Given the description of an element on the screen output the (x, y) to click on. 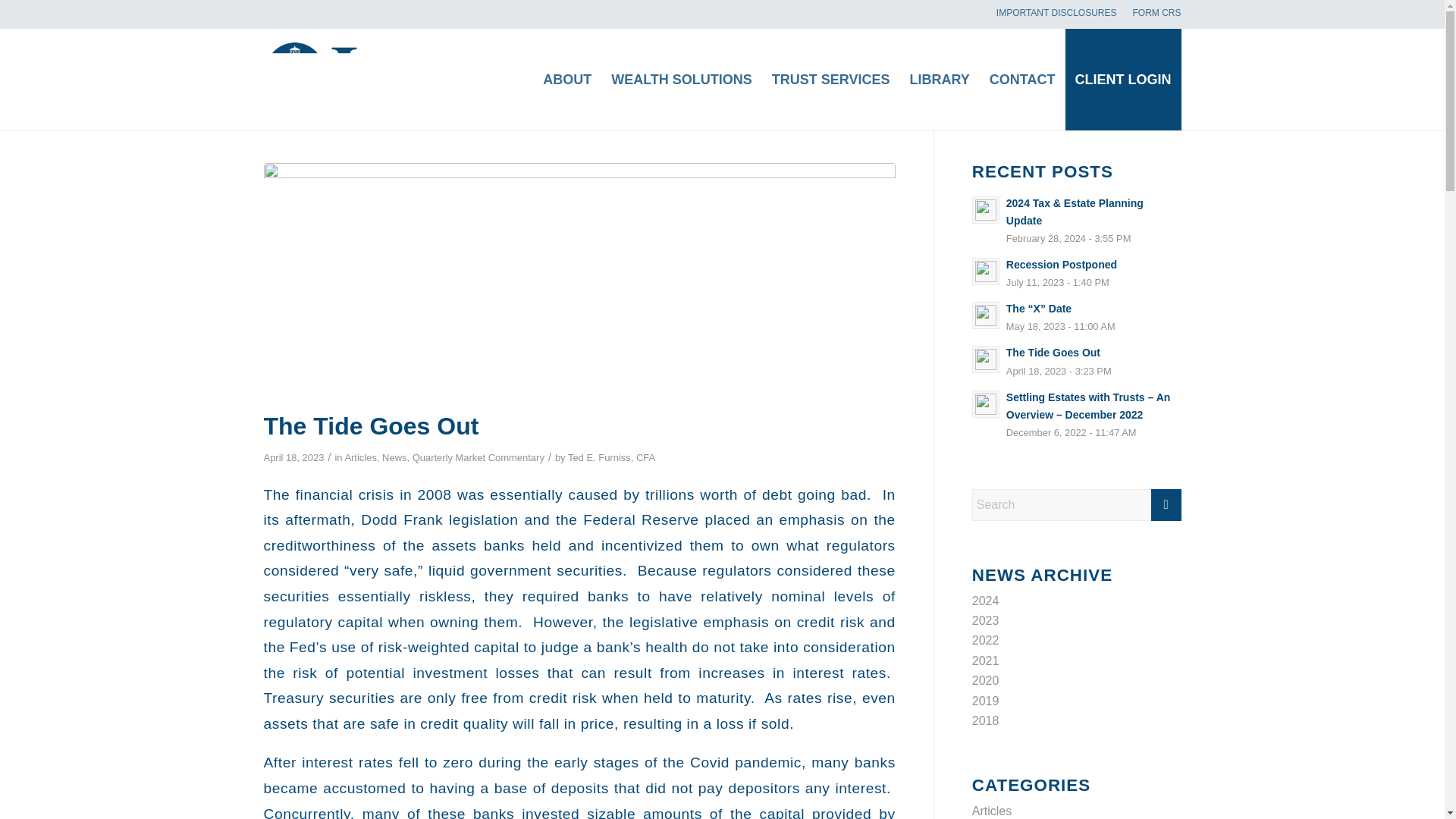
Quarterly Market Commentary (478, 457)
FORM CRS (1156, 12)
Ted E. Furniss, CFA (611, 457)
CLIENT LOGIN (1122, 79)
Read: The Tide Goes Out (1053, 352)
2022 (985, 640)
News (393, 457)
Articles (359, 457)
2020 (985, 680)
WEALTH SOLUTIONS (681, 79)
Read: The Tide Goes Out (985, 359)
IMPORTANT DISCLOSURES (1055, 12)
Posts by Ted E. Furniss, CFA (611, 457)
2019 (985, 700)
2021 (985, 660)
